Given the description of an element on the screen output the (x, y) to click on. 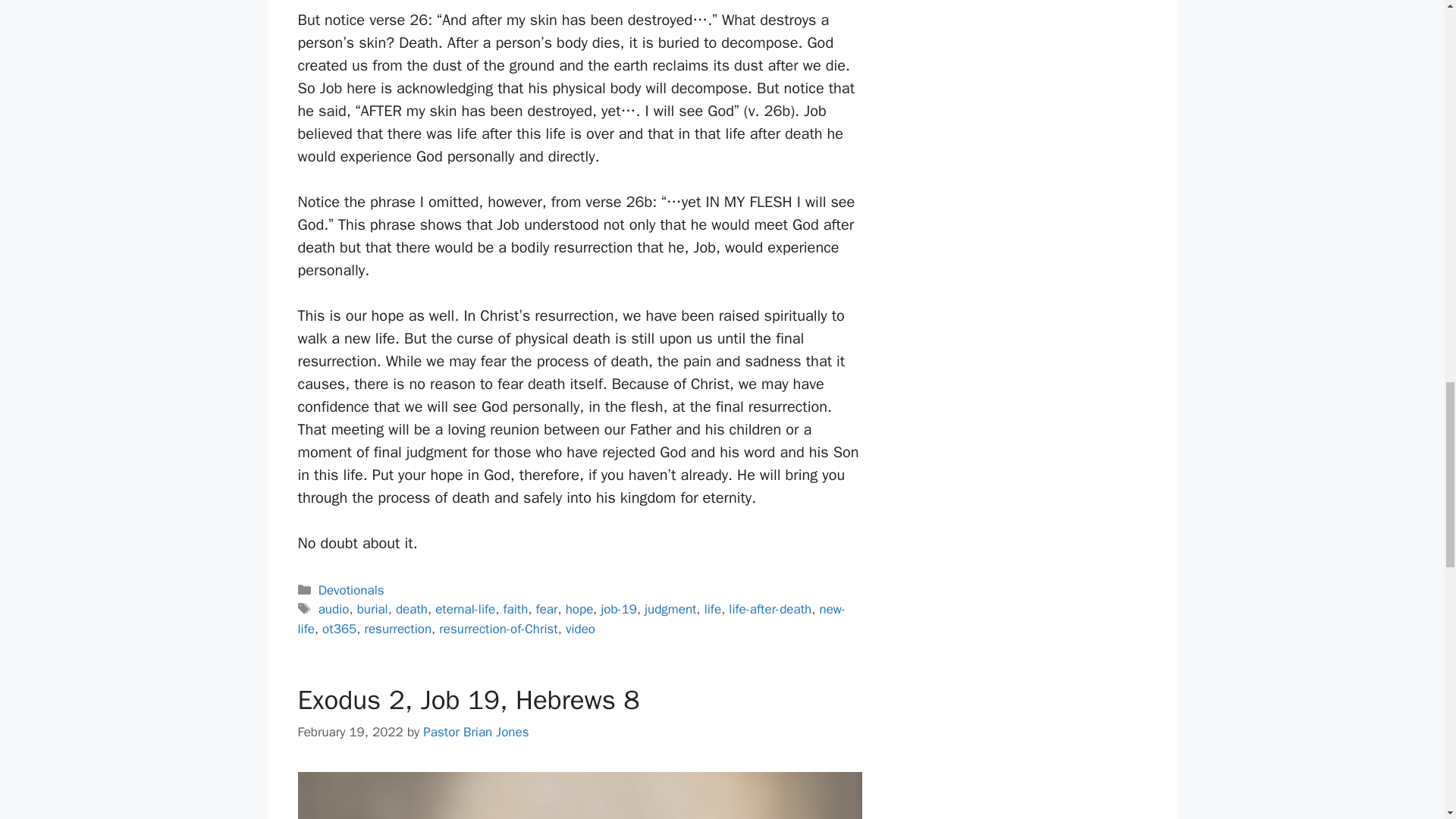
View all posts by Pastor Brian Jones (475, 731)
Devotionals (351, 590)
audio (333, 609)
